Given the description of an element on the screen output the (x, y) to click on. 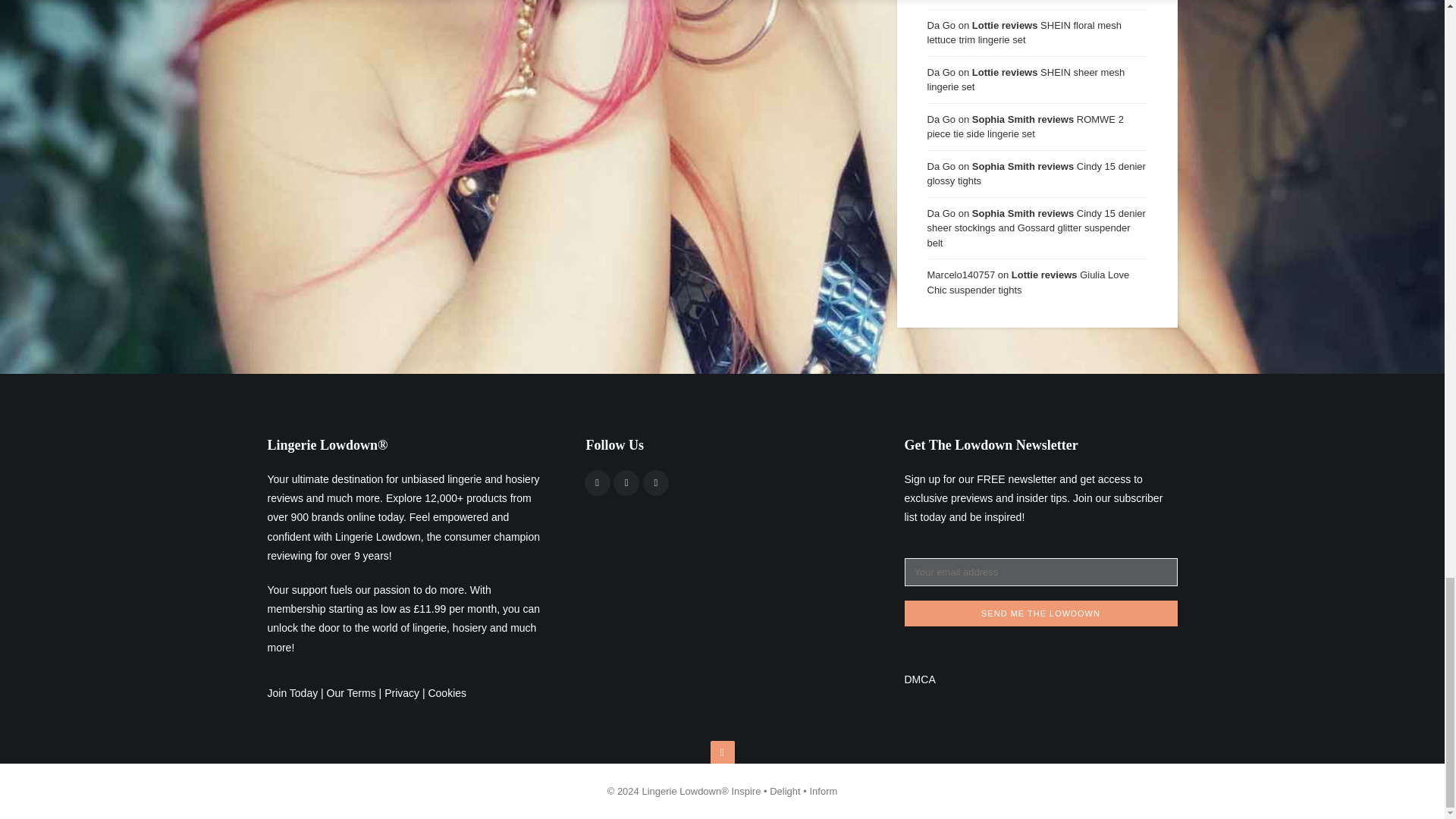
Send me The Lowdown (1040, 613)
